Given the description of an element on the screen output the (x, y) to click on. 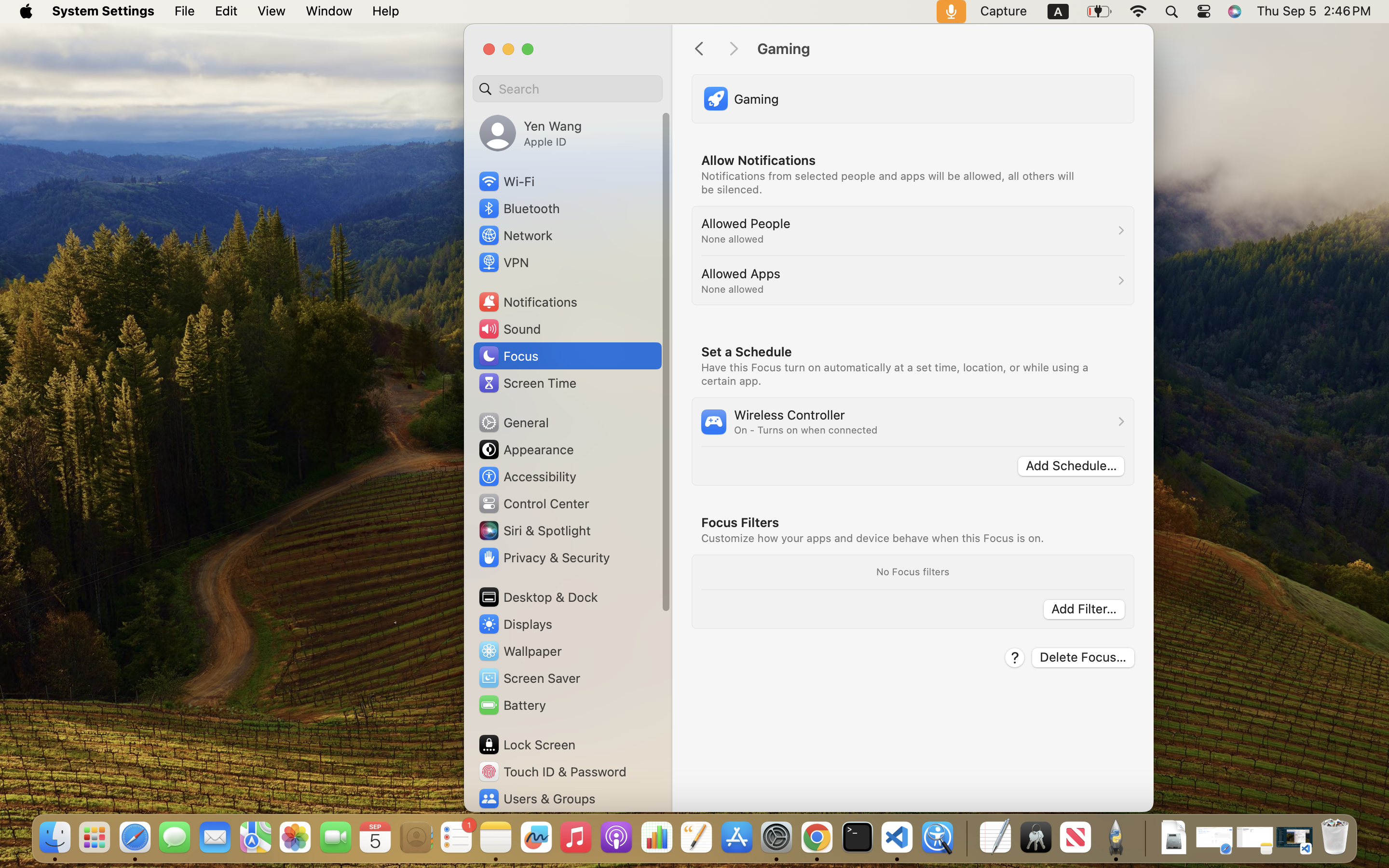
Users & Groups Element type: AXStaticText (536, 798)
General Element type: AXStaticText (512, 422)
Wi‑Fi Element type: AXStaticText (505, 180)
0.4285714328289032 Element type: AXDockItem (965, 837)
Screen Saver Element type: AXStaticText (528, 677)
